Given the description of an element on the screen output the (x, y) to click on. 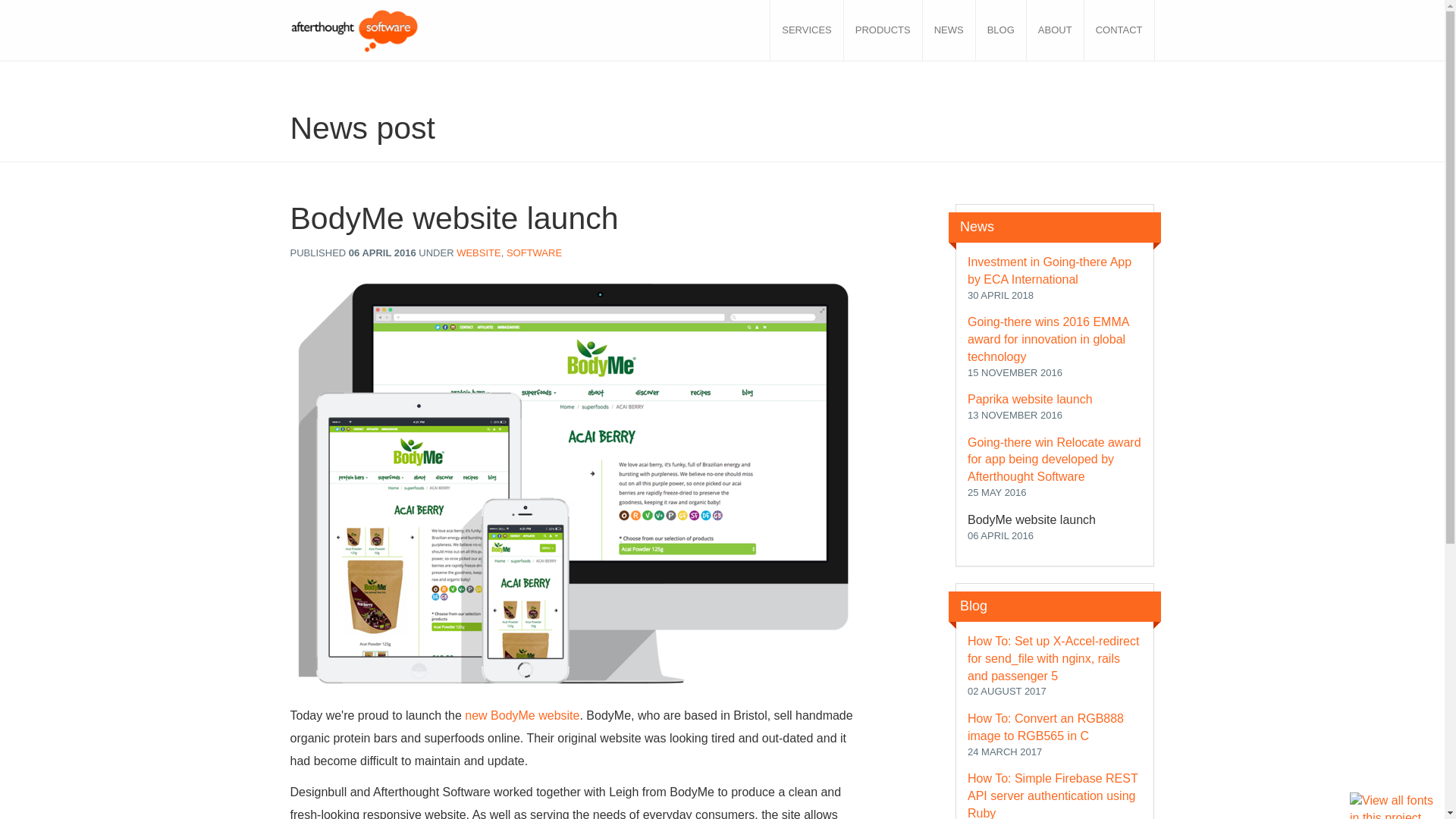
SOFTWARE (534, 252)
CONTACT (1118, 30)
SERVICES (807, 30)
WEBSITE (478, 252)
ABOUT (1055, 30)
new BodyMe website (521, 715)
How To: Convert an RGB888 image to RGB565 in C (1046, 726)
Investment in Going-there App by ECA International (1049, 270)
